Given the description of an element on the screen output the (x, y) to click on. 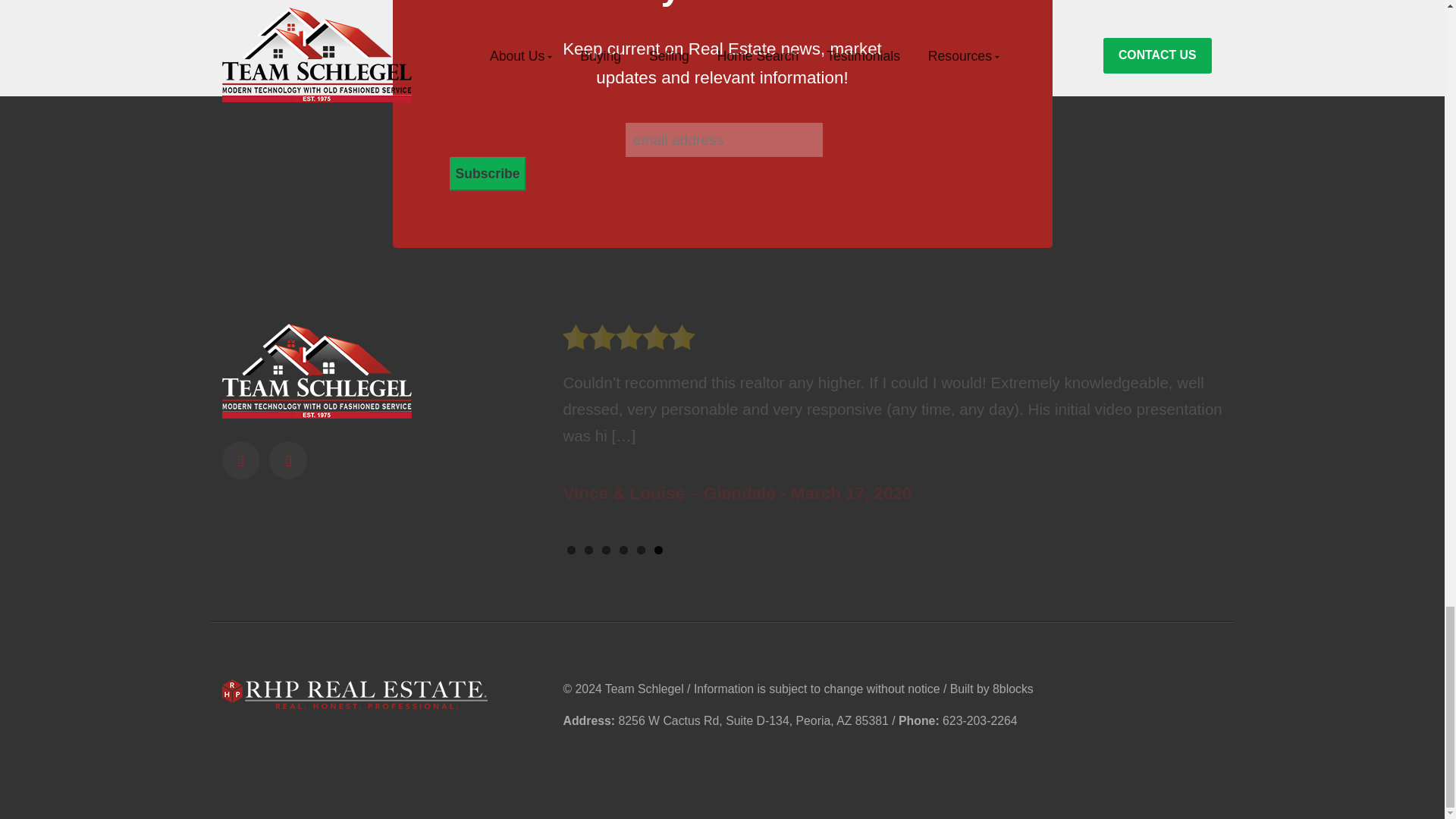
Subscribe (486, 173)
